Given the description of an element on the screen output the (x, y) to click on. 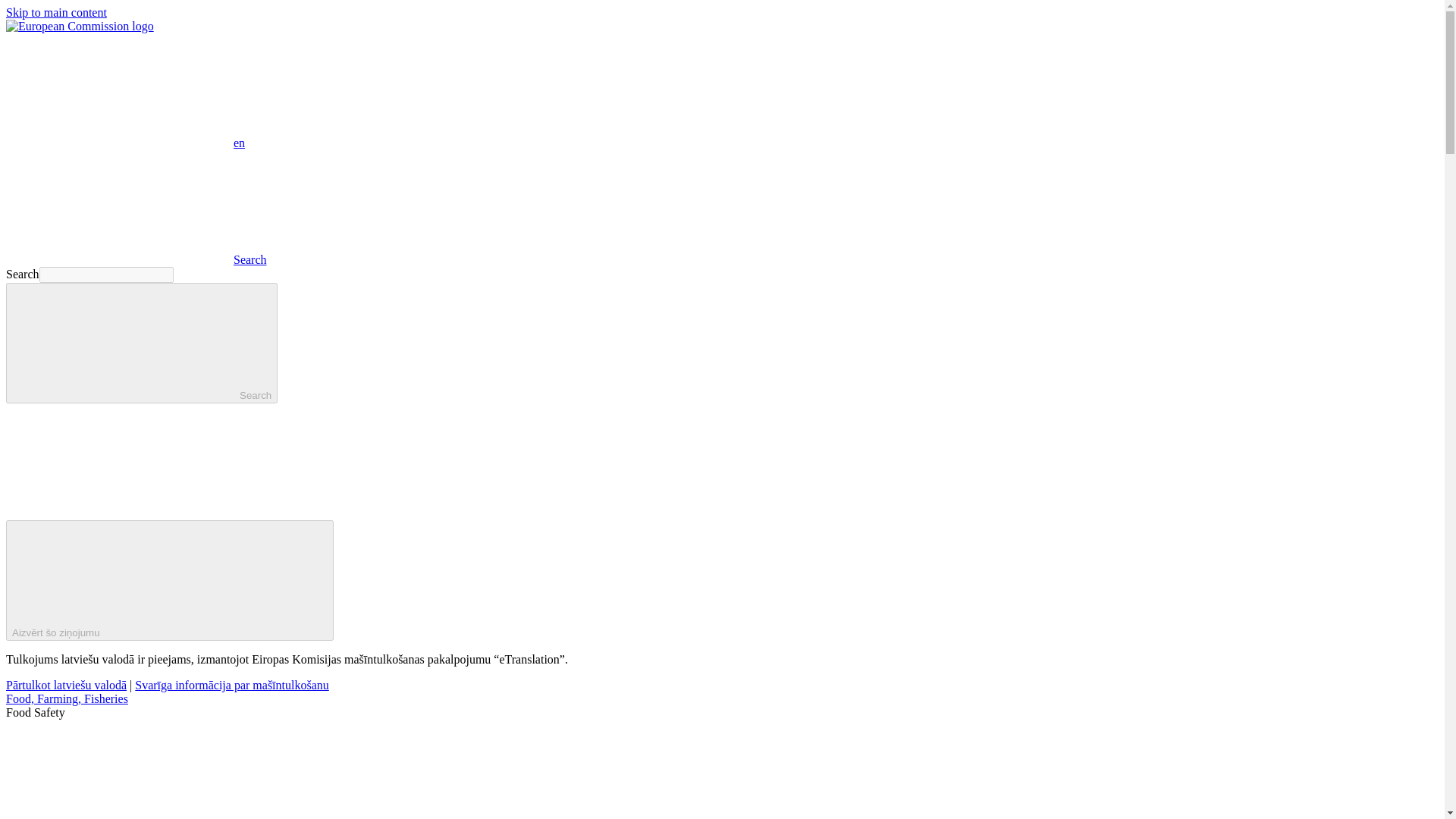
enen (124, 142)
en (118, 90)
Food, Farming, Fisheries (66, 698)
Search (135, 259)
European Commission (79, 25)
Search (141, 342)
Skip to main content (55, 11)
